Given the description of an element on the screen output the (x, y) to click on. 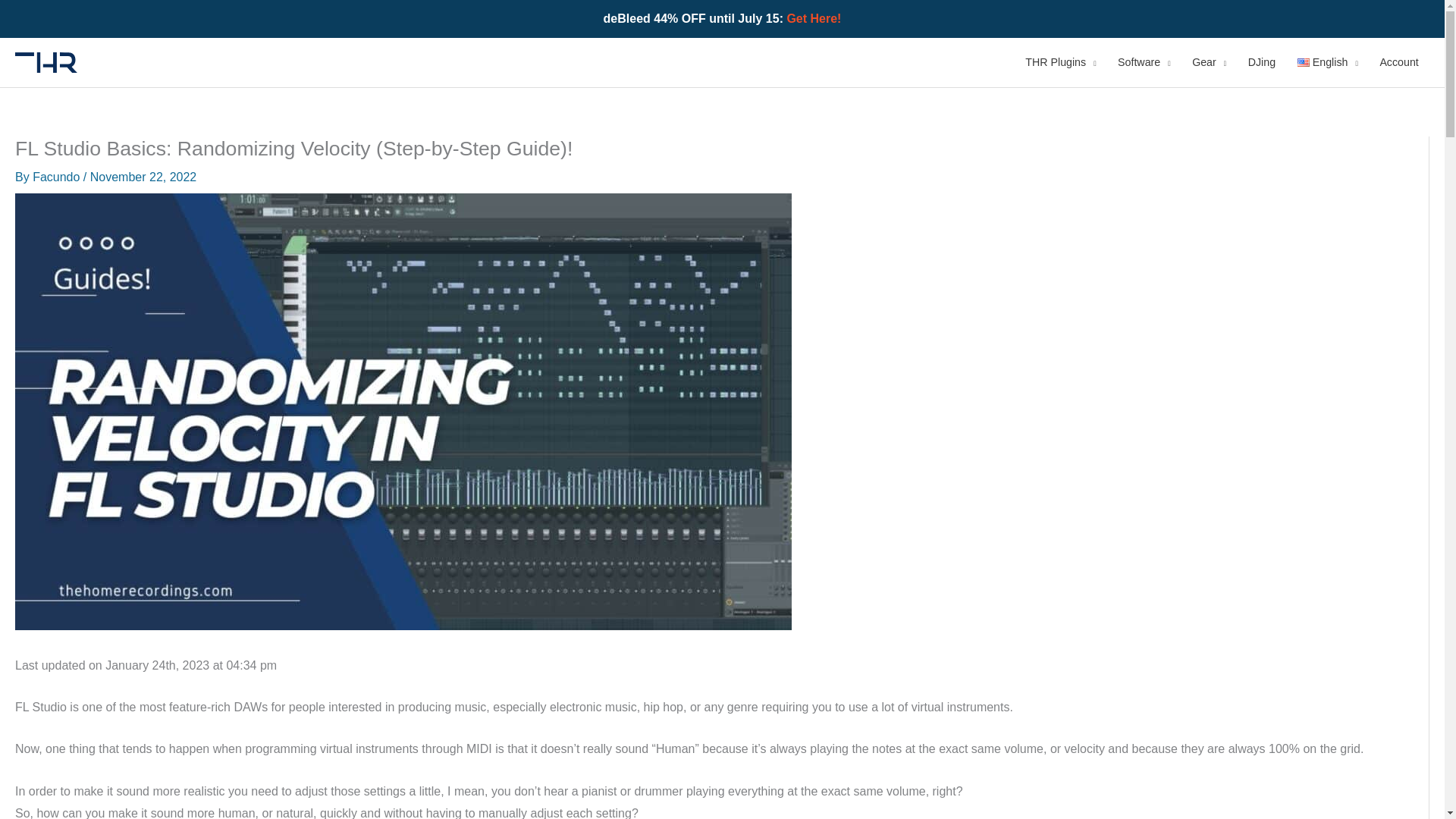
Software (1143, 61)
THR Plugins (1060, 61)
Get Here! (813, 18)
Gear (1208, 61)
View all posts by Facundo (57, 175)
